Given the description of an element on the screen output the (x, y) to click on. 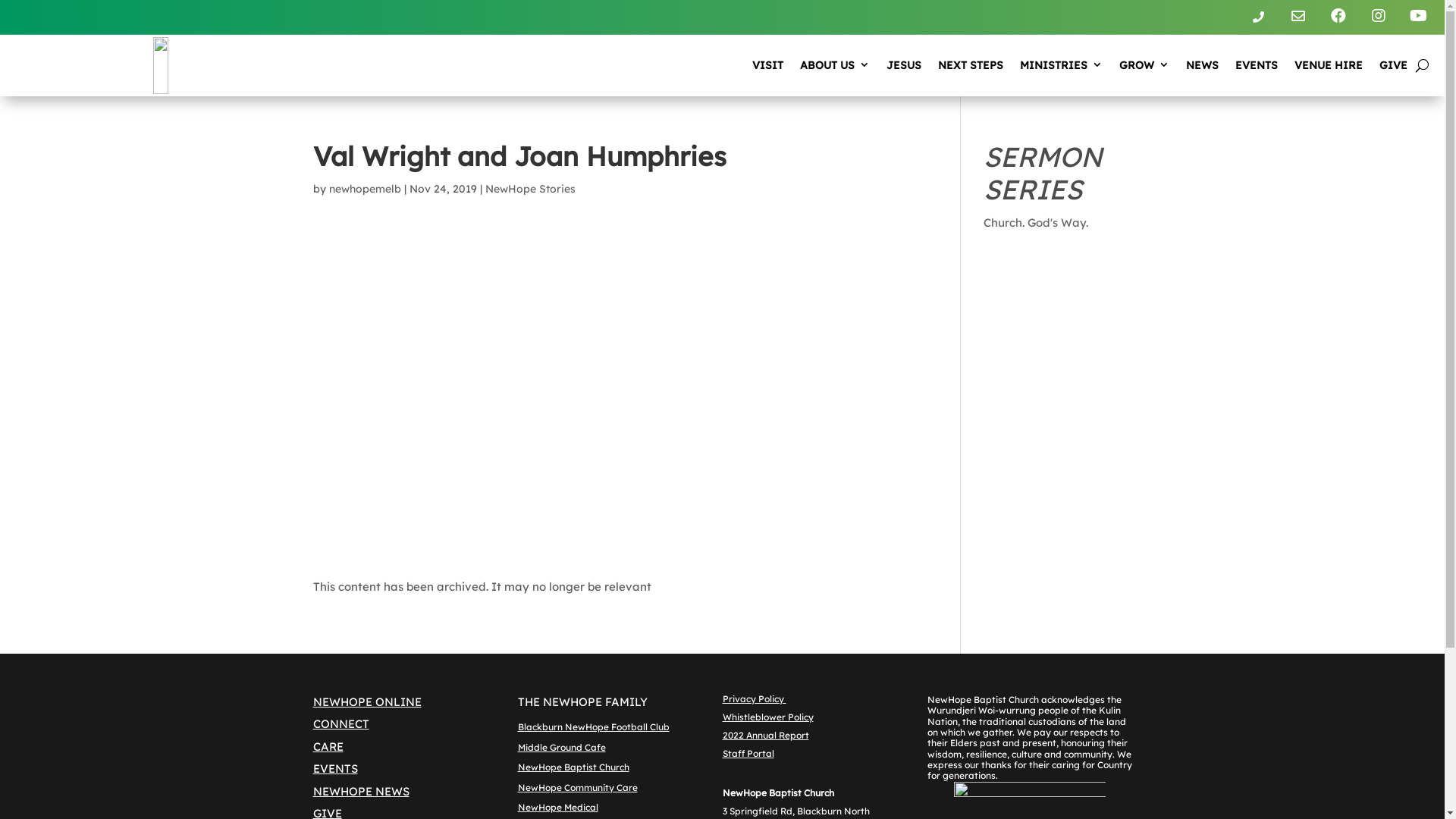
NEXT STEPS Element type: text (970, 65)
Staff Portal Element type: text (747, 753)
Blackburn NewHope Football Club Element type: text (592, 726)
Church. God's Way. Element type: text (1035, 222)
NewHope Stories Element type: text (530, 188)
ABOUT US Element type: text (834, 65)
Middle Ground Cafe Element type: text (561, 747)
newhopemelb Element type: text (365, 188)
Whistleblower Policy Element type: text (766, 716)
NewHope Medical Element type: text (557, 806)
CONNECT Element type: text (340, 723)
GROW Element type: text (1144, 65)
NEWHOPE NEWS Element type: text (360, 791)
CARE Element type: text (327, 746)
MINISTRIES Element type: text (1060, 65)
NewHope Community Care Element type: text (577, 787)
NEWS Element type: text (1202, 65)
GIVE Element type: text (1393, 65)
NewHope Baptist Church Element type: text (572, 766)
2022 Annual Report Element type: text (764, 734)
EVENTS Element type: text (1256, 65)
VISIT Element type: text (767, 65)
JESUS Element type: text (903, 65)
NEWHOPE ONLINE Element type: text (366, 701)
EVENTS Element type: text (334, 768)
VENUE HIRE Element type: text (1328, 65)
Privacy Policy  Element type: text (753, 698)
